Given the description of an element on the screen output the (x, y) to click on. 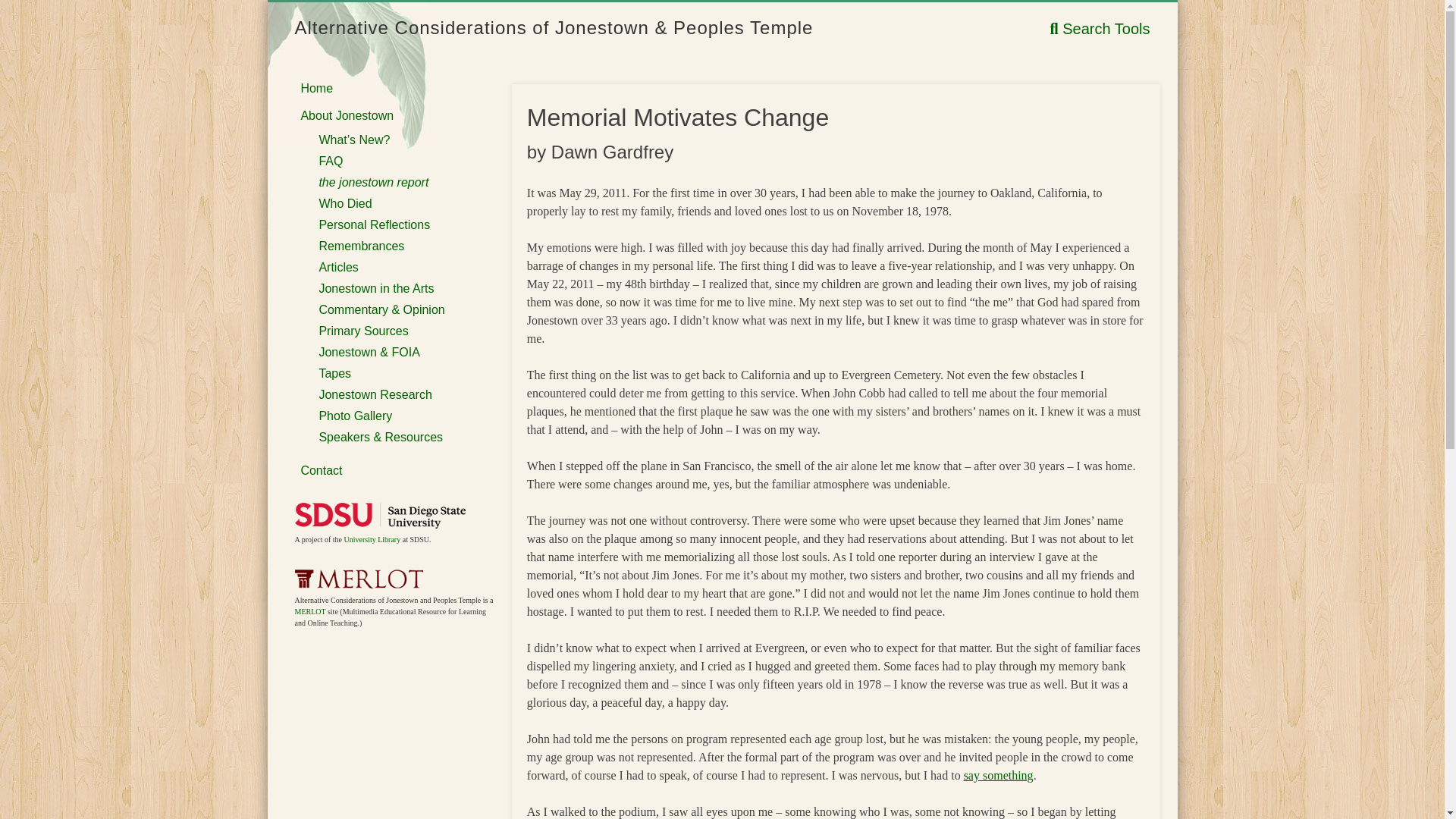
Who Died (344, 203)
Home (316, 88)
About Jonestown (346, 115)
FAQ (330, 160)
say something (998, 775)
Search Tools (1099, 28)
the jonestown report (373, 182)
